Given the description of an element on the screen output the (x, y) to click on. 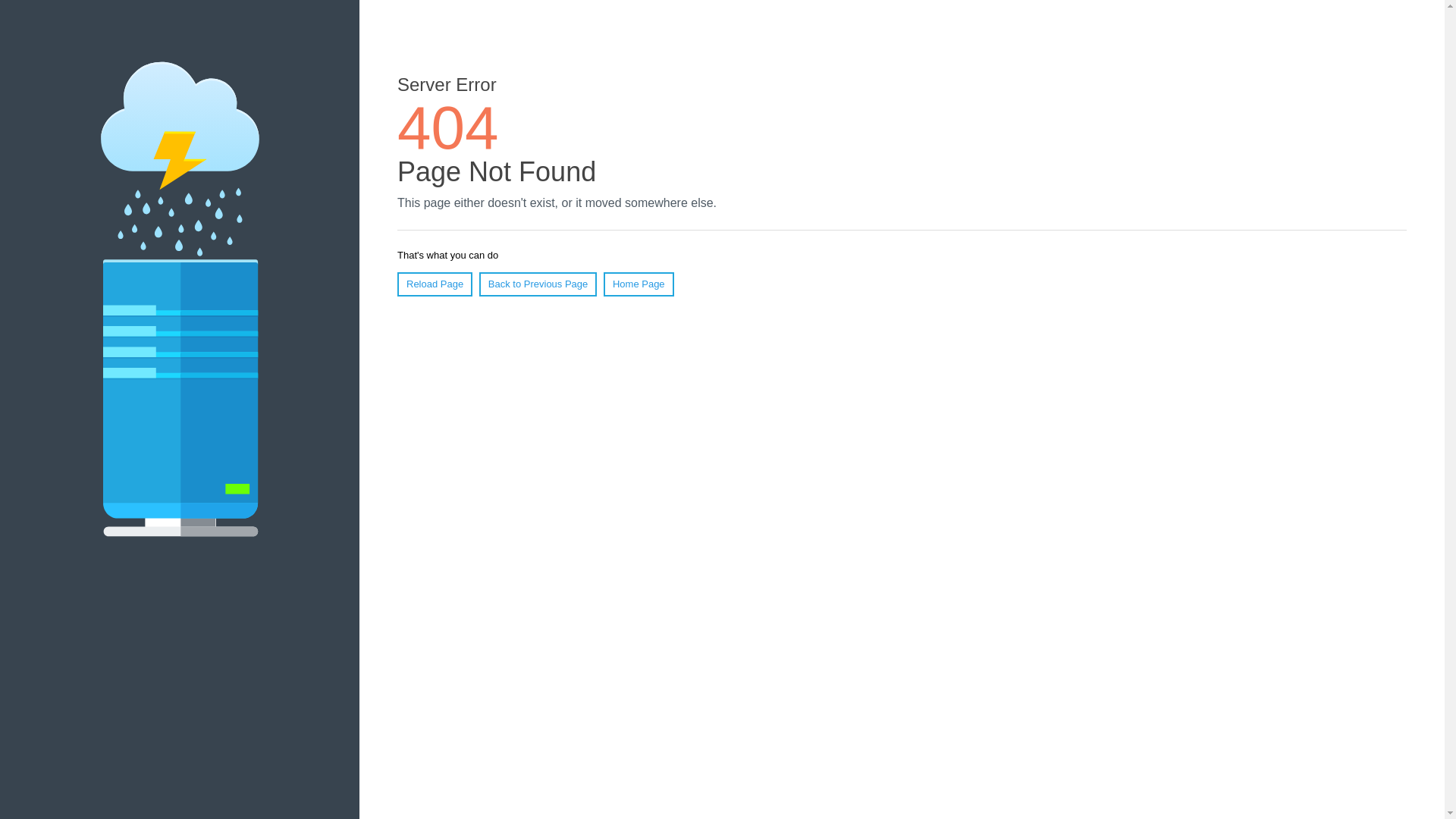
Reload Page Element type: text (434, 284)
Home Page Element type: text (638, 284)
Back to Previous Page Element type: text (538, 284)
